Given the description of an element on the screen output the (x, y) to click on. 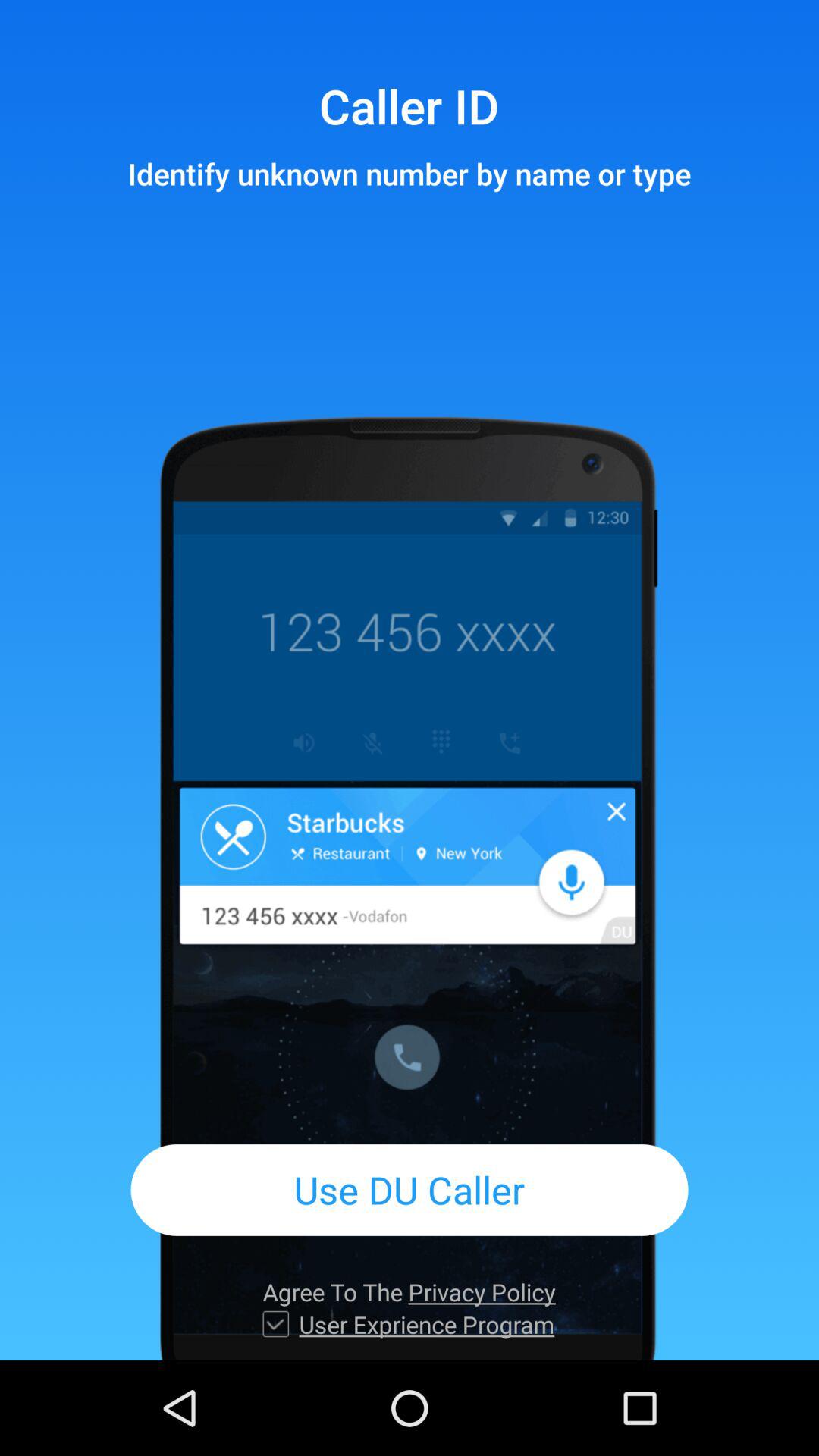
press the item below the agree to the (275, 1323)
